Given the description of an element on the screen output the (x, y) to click on. 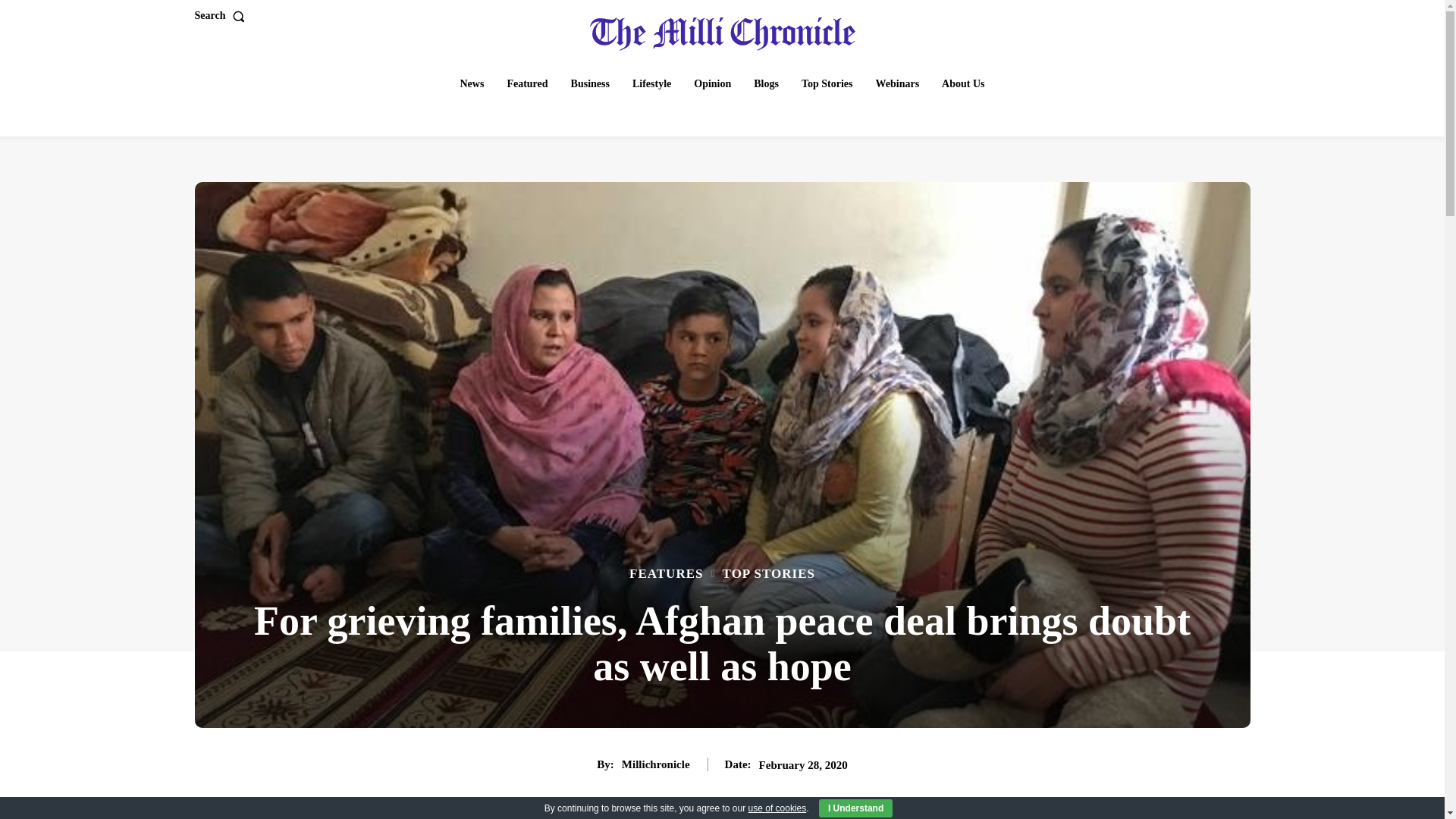
Lifestyle (651, 83)
Featured (526, 83)
Business (590, 83)
Search (221, 15)
News (471, 83)
